Given the description of an element on the screen output the (x, y) to click on. 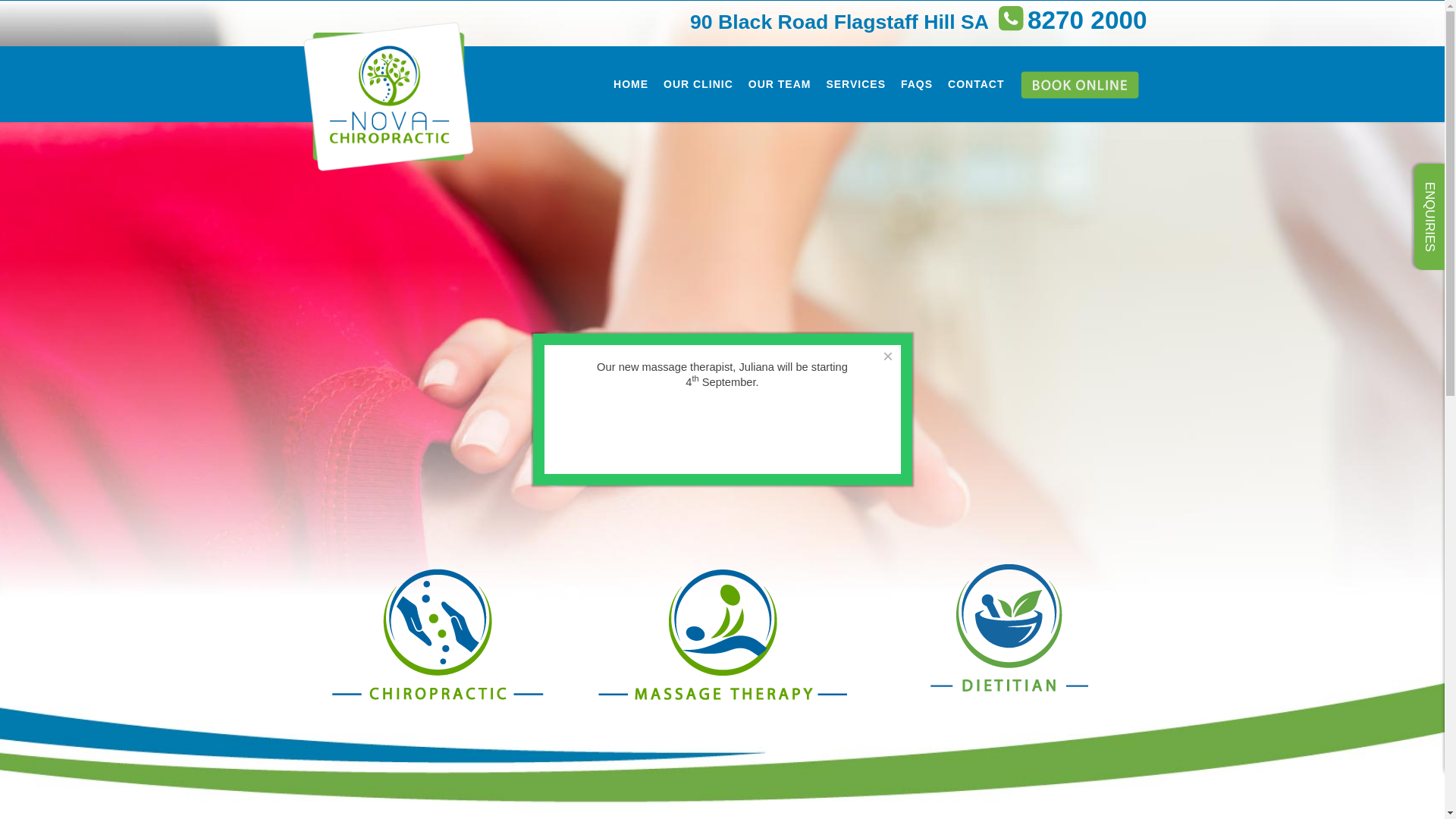
SERVICES Element type: text (855, 84)
HOME Element type: text (630, 84)
FAQS Element type: text (916, 84)
8270 2000 Element type: text (1068, 24)
CONTACT Element type: text (975, 84)
OUR CLINIC Element type: text (697, 84)
OUR TEAM Element type: text (779, 84)
